Given the description of an element on the screen output the (x, y) to click on. 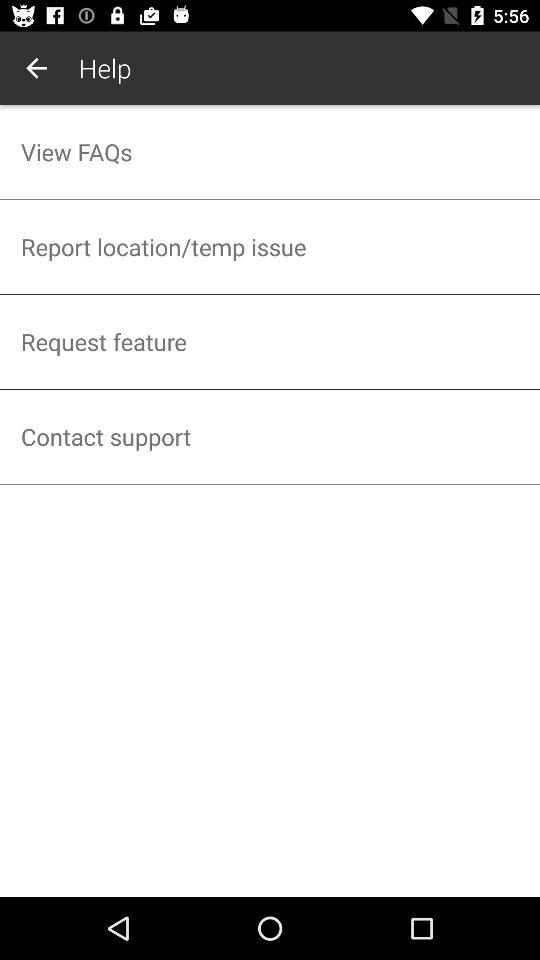
choose the item below the request feature (270, 436)
